Given the description of an element on the screen output the (x, y) to click on. 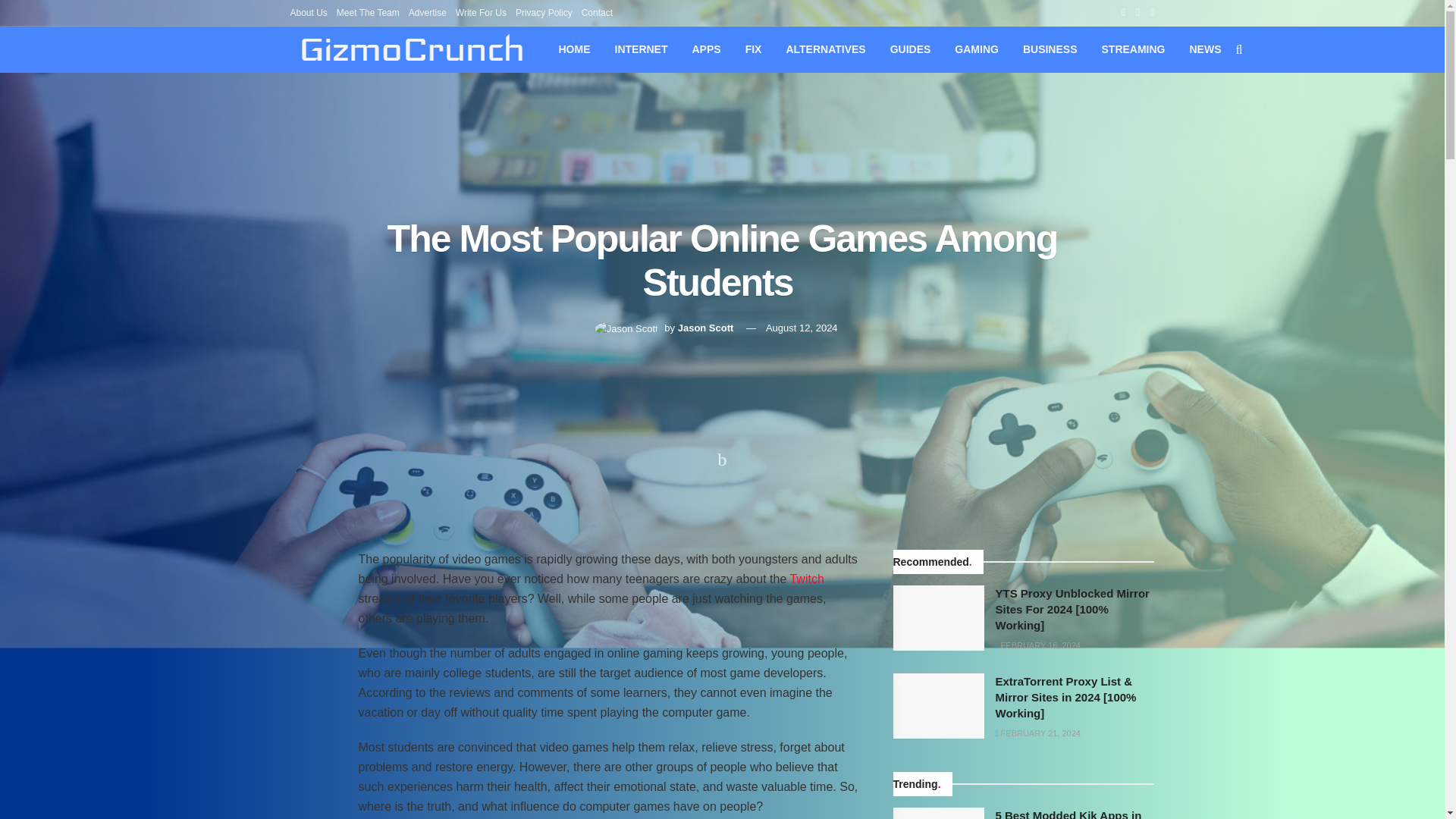
Meet The Team (367, 12)
INTERNET (640, 49)
Privacy Policy (543, 12)
Write For Us (480, 12)
APPS (705, 49)
HOME (574, 49)
Advertise (427, 12)
About Us (307, 12)
Contact (596, 12)
